Given the description of an element on the screen output the (x, y) to click on. 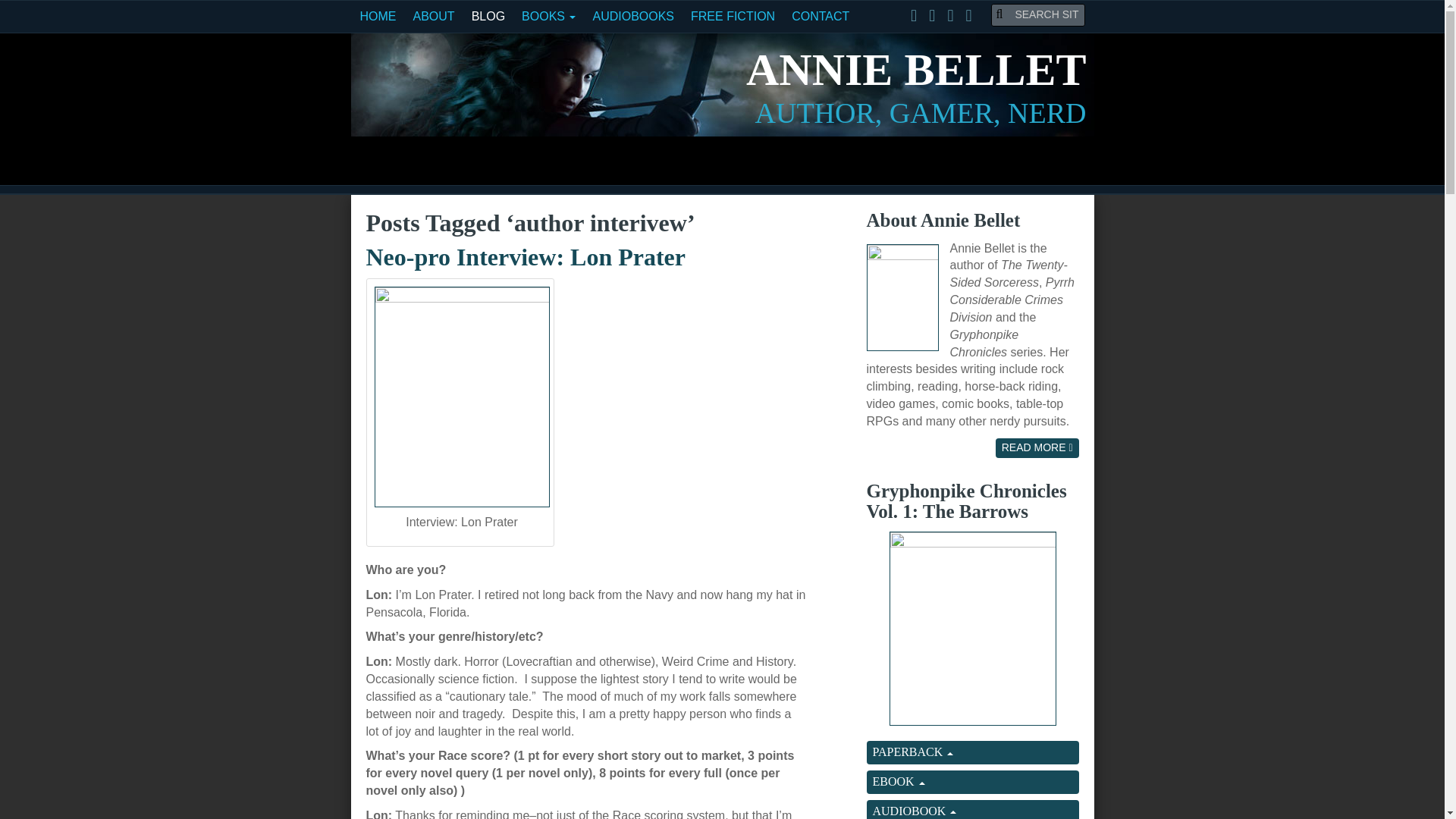
AUDIOBOOKS (632, 16)
EBOOK (972, 781)
Contact (820, 16)
READ MORE (1036, 447)
FREE FICTION (732, 16)
BOOKS (548, 16)
Books (548, 16)
BLOG (488, 16)
Audiobooks (632, 16)
CONTACT (820, 16)
